Given the description of an element on the screen output the (x, y) to click on. 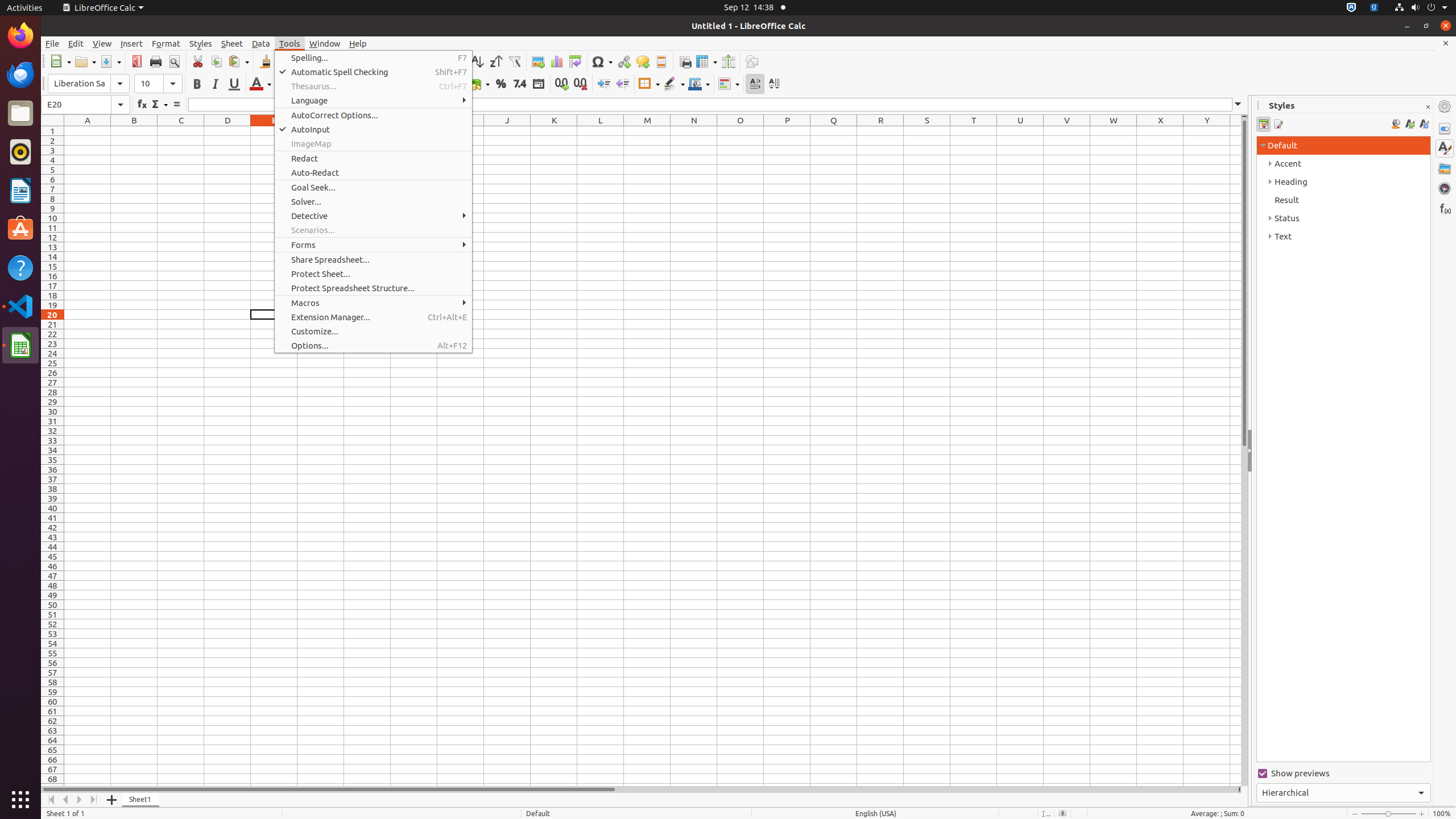
Page Styles Element type: push-button (1277, 123)
File Element type: menu (51, 43)
Window Element type: menu (324, 43)
Properties Element type: radio-button (1444, 128)
Decrease Element type: push-button (622, 83)
